Given the description of an element on the screen output the (x, y) to click on. 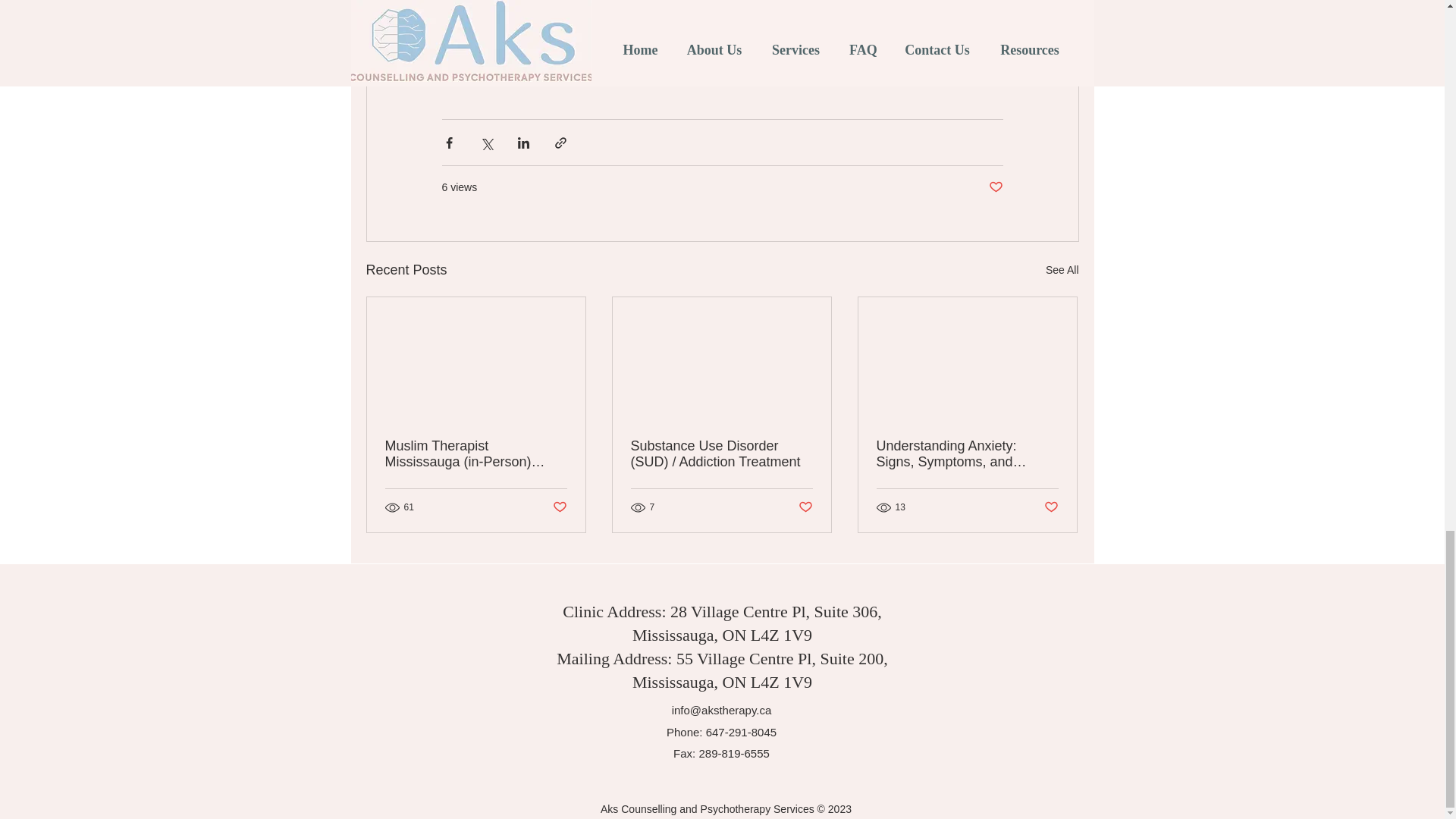
Post not marked as liked (1050, 507)
See All (1061, 270)
Post not marked as liked (558, 507)
click here (837, 50)
Post not marked as liked (995, 187)
Post not marked as liked (804, 507)
